Given the description of an element on the screen output the (x, y) to click on. 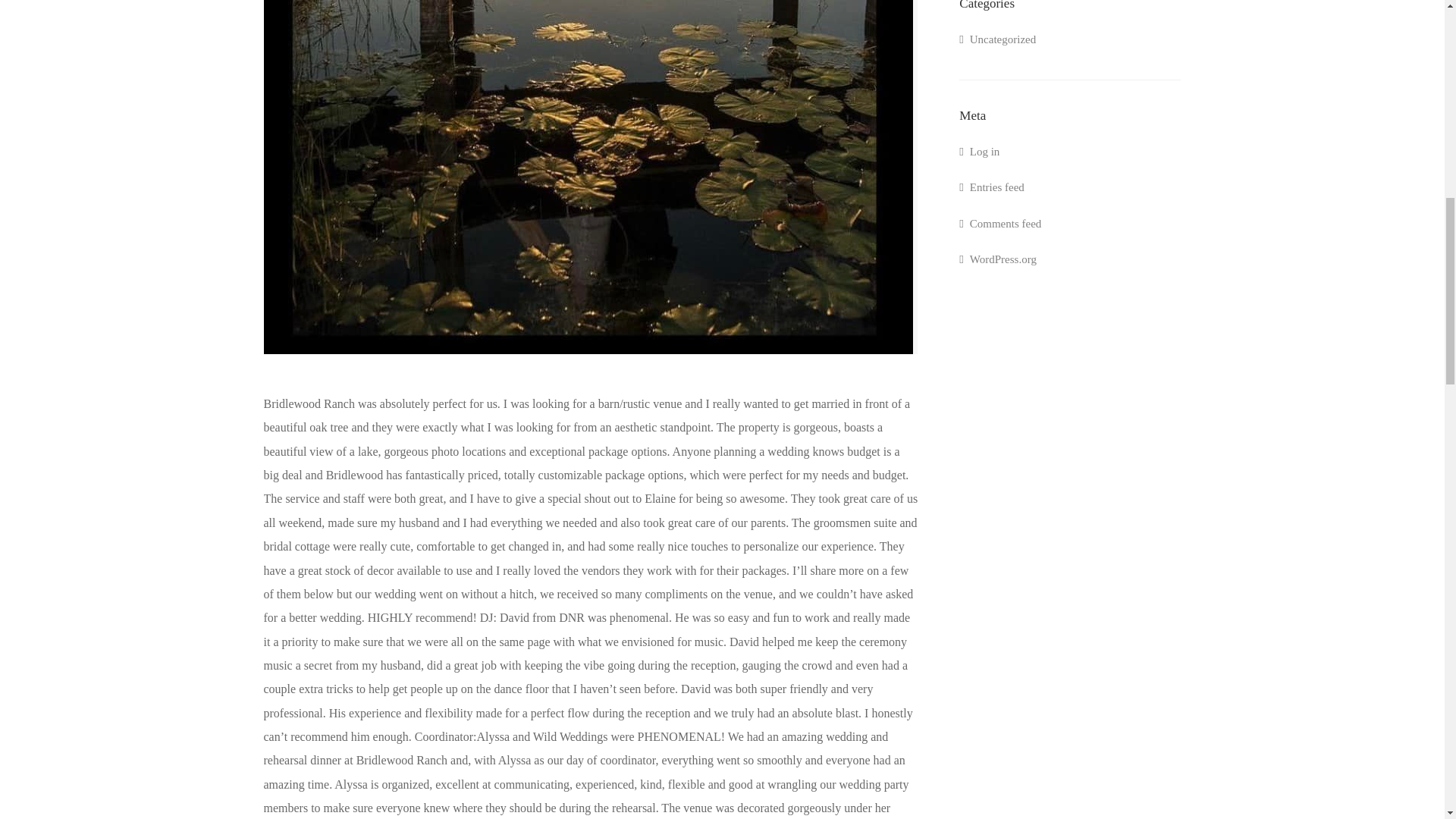
Uncategorized (997, 42)
Log in (978, 154)
